Given the description of an element on the screen output the (x, y) to click on. 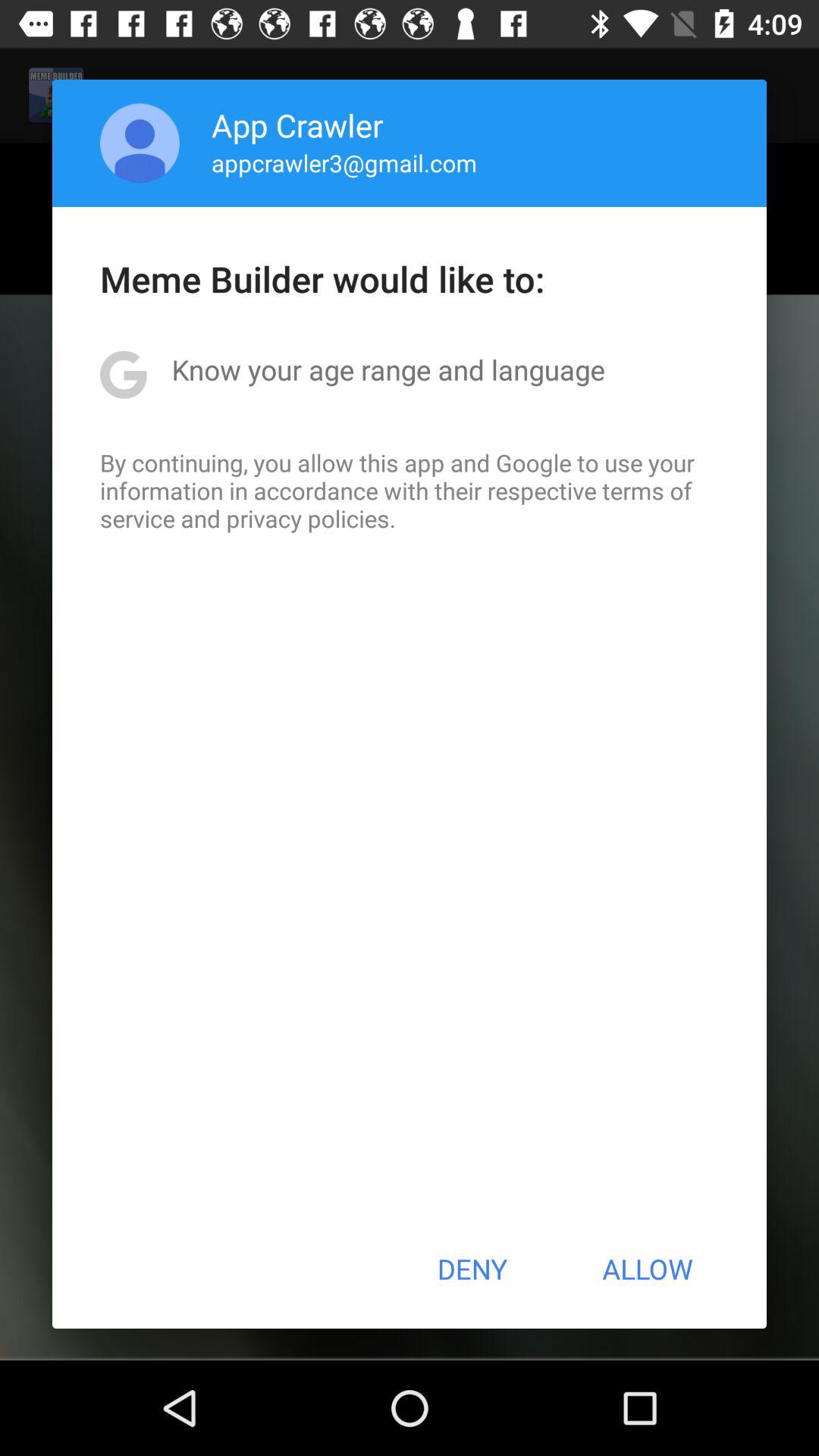
jump until the appcrawler3@gmail.com item (344, 162)
